Given the description of an element on the screen output the (x, y) to click on. 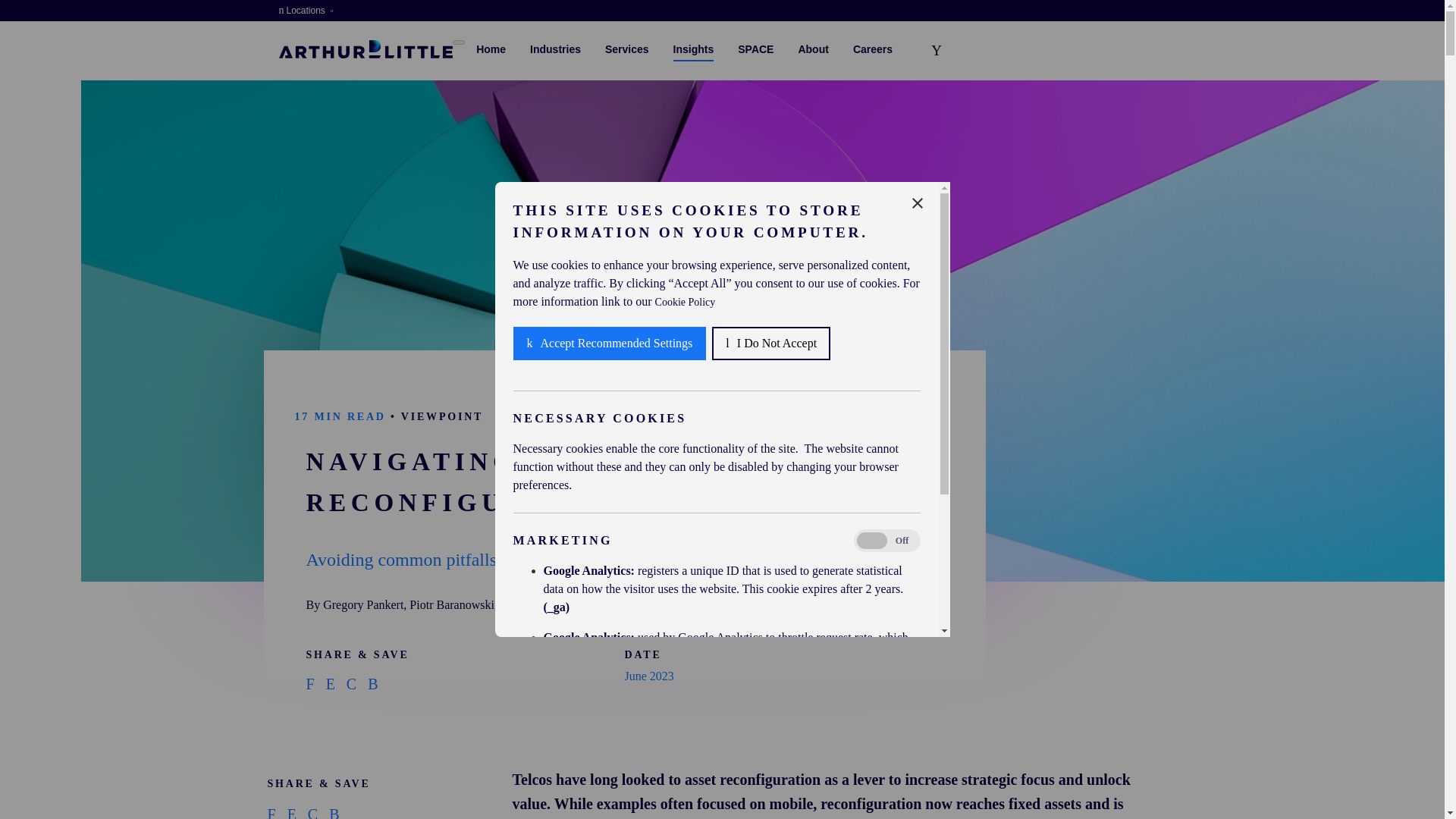
Cookie Policy (685, 785)
Home (365, 49)
Accept Recommended Settings (609, 756)
I Do Not Accept (770, 633)
